Given the description of an element on the screen output the (x, y) to click on. 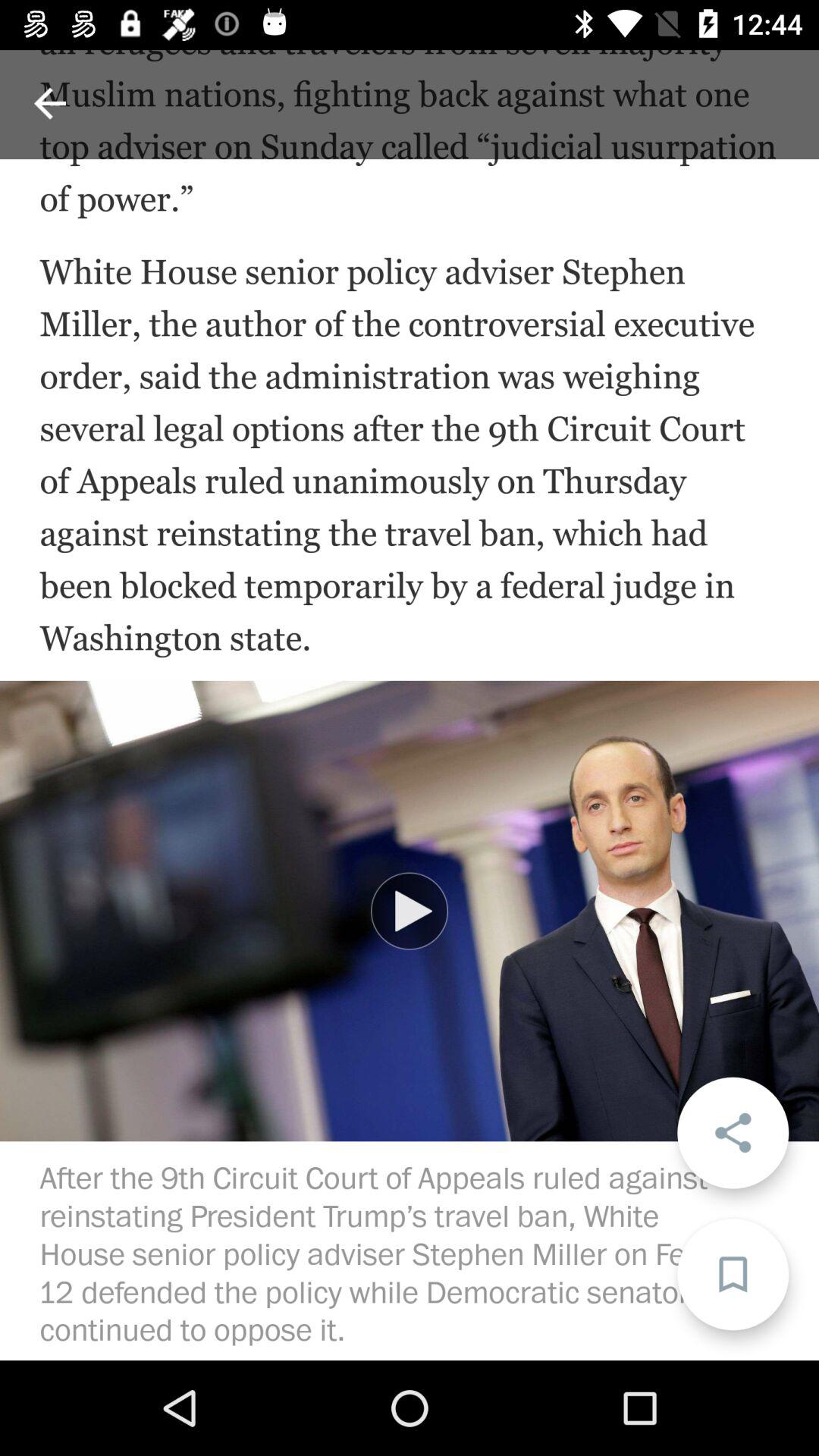
click the icon at the top left corner (49, 103)
